Given the description of an element on the screen output the (x, y) to click on. 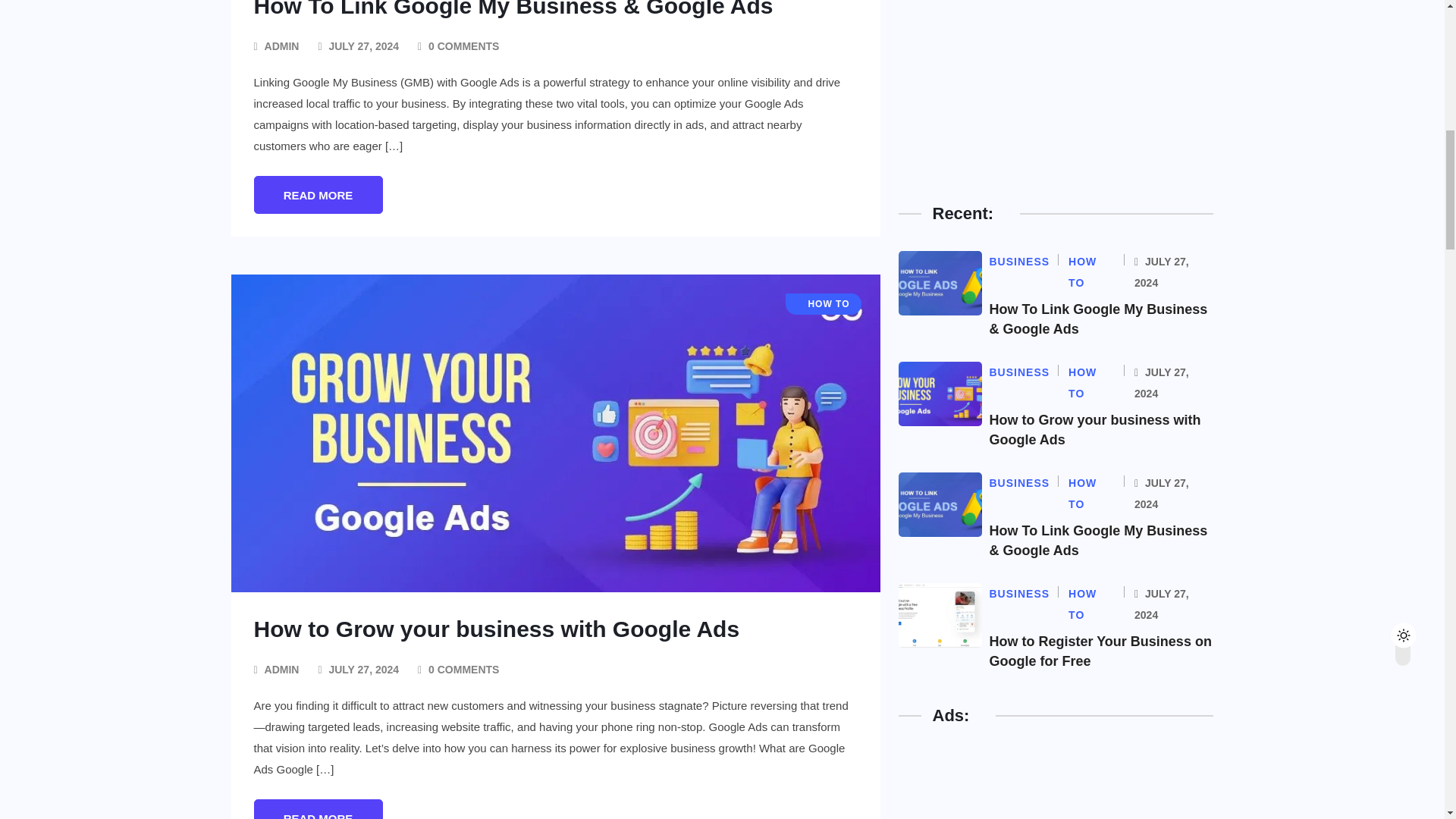
Advertisement (1011, 81)
How to Register Your Business on Google for Free (1099, 651)
How to Grow your business with Google Ads (1093, 429)
Posts by admin (281, 669)
Posts by admin (281, 46)
